Given the description of an element on the screen output the (x, y) to click on. 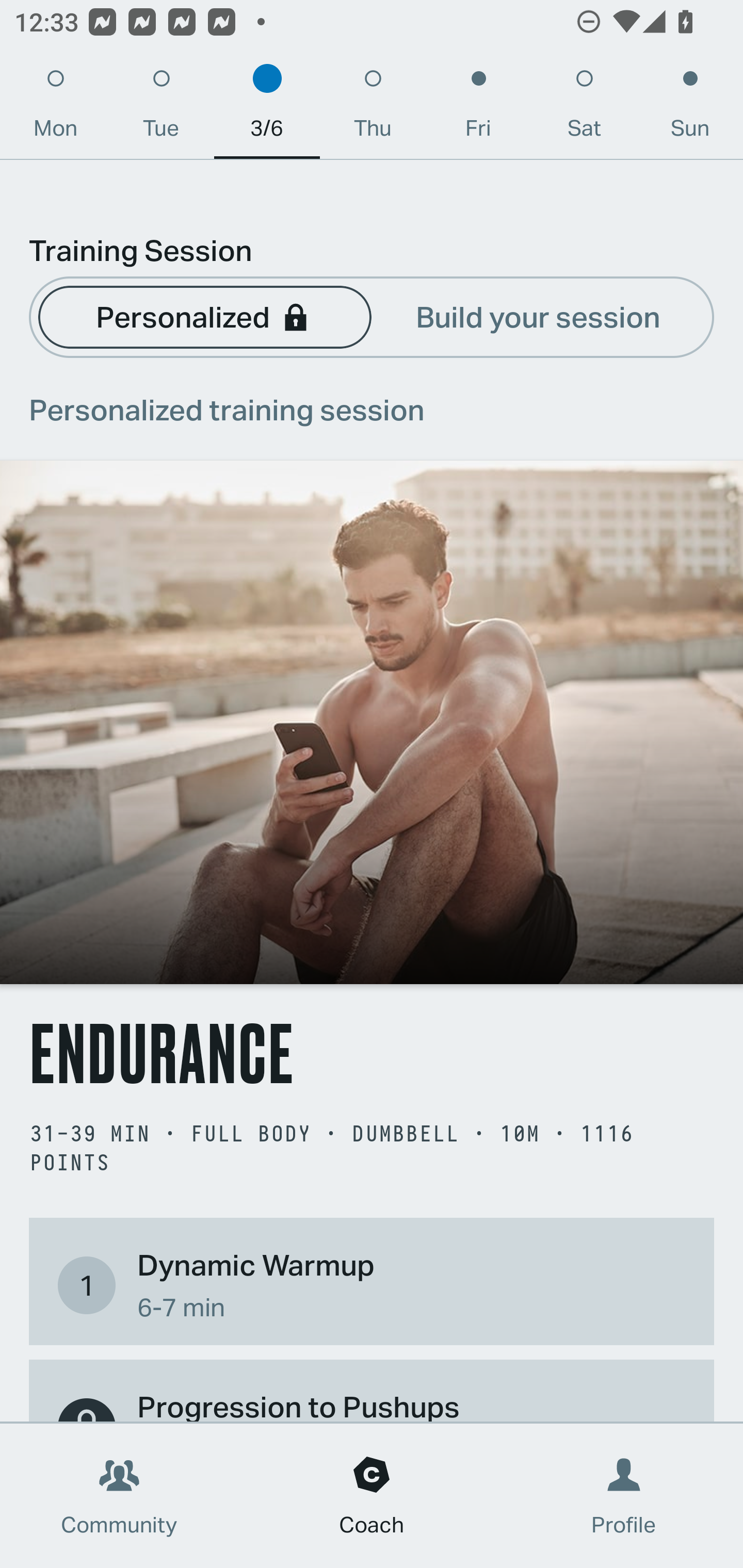
Mon (55, 108)
Tue (160, 108)
3/6 (266, 108)
Thu (372, 108)
Fri (478, 108)
Sat (584, 108)
Sun (690, 108)
Personalized (204, 315)
Build your session (538, 315)
1 Dynamic Warmup 6-7 min (371, 1284)
Community (119, 1495)
Profile (624, 1495)
